Given the description of an element on the screen output the (x, y) to click on. 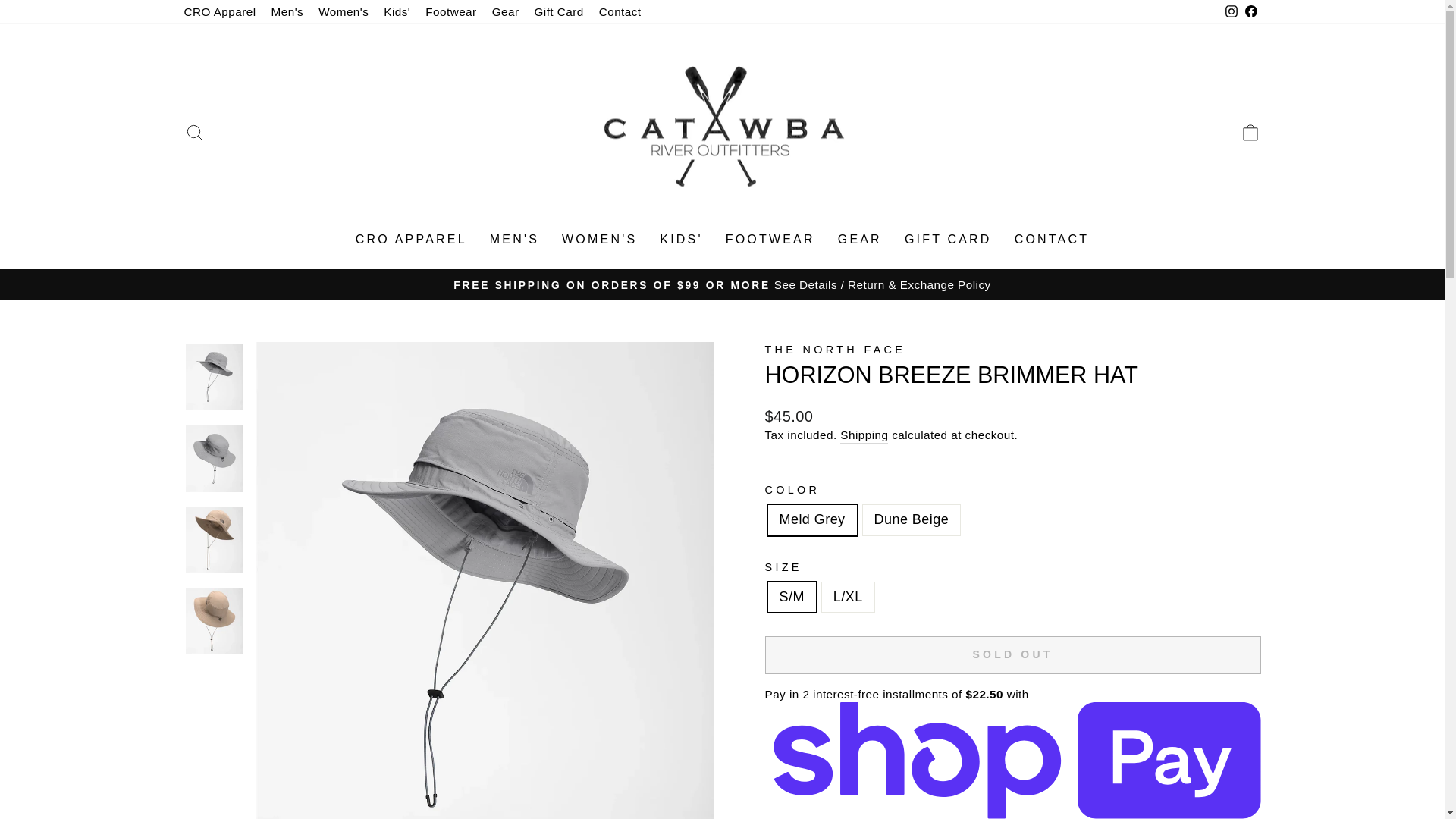
Footwear (450, 11)
Men's (194, 132)
Gift Card (287, 11)
CRO APPAREL (558, 11)
Gear (411, 239)
The North Face (505, 11)
Contact (834, 349)
CRO Apparel (620, 11)
Kids' (219, 11)
